Given the description of an element on the screen output the (x, y) to click on. 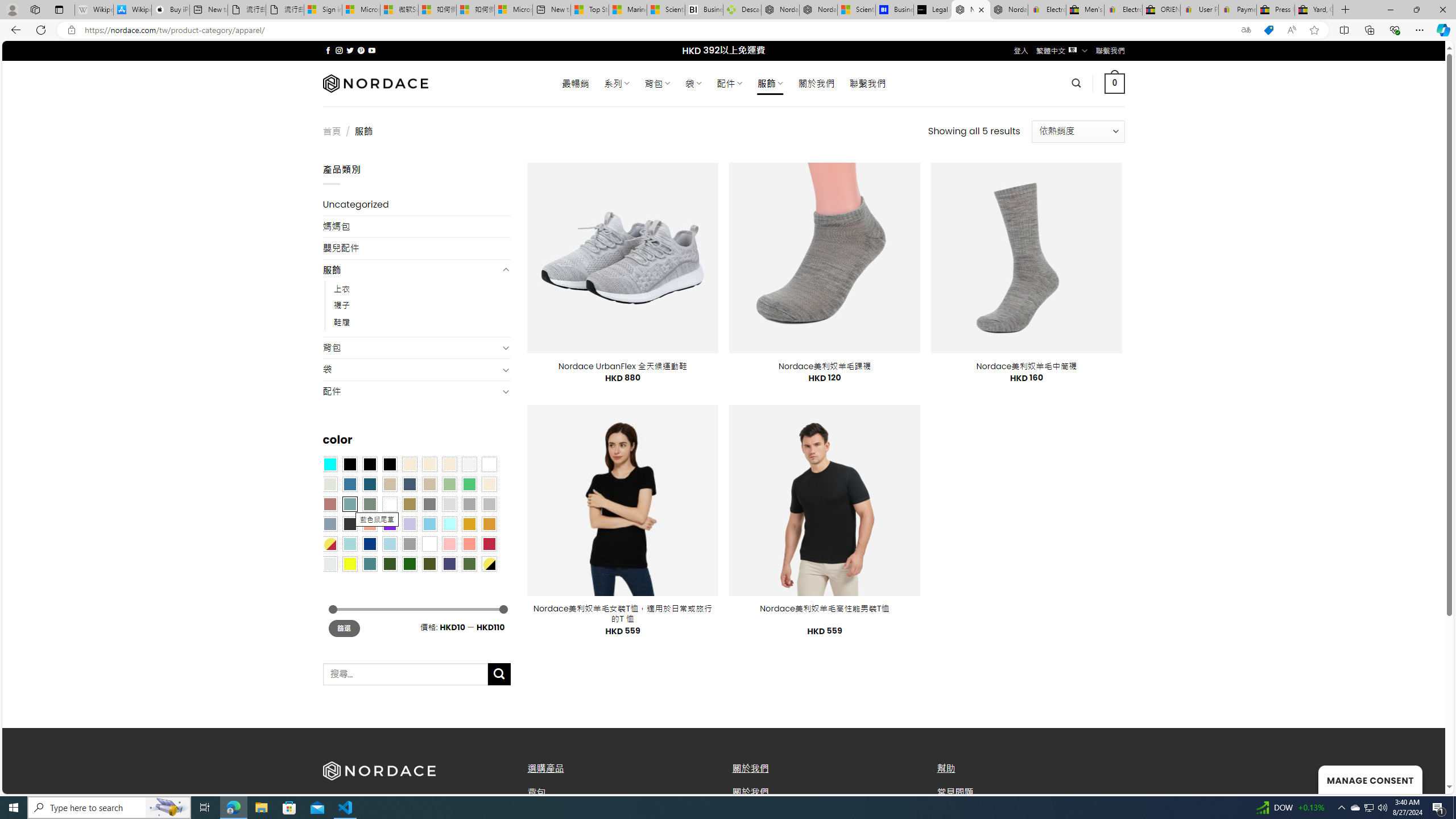
Nordace - Summer Adventures 2024 (780, 9)
Go to top (1421, 777)
Follow on Instagram (338, 50)
